Given the description of an element on the screen output the (x, y) to click on. 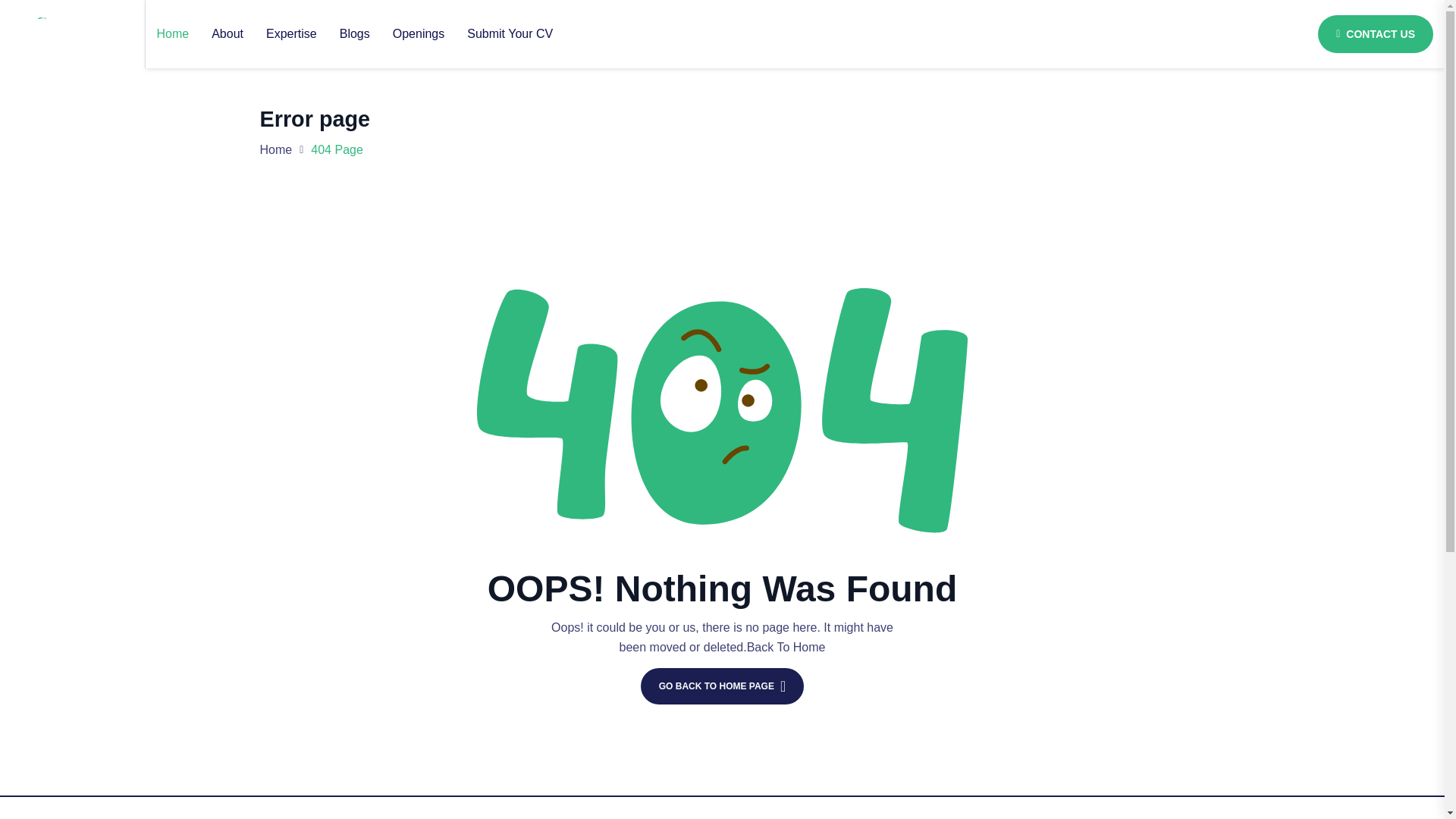
Home (275, 149)
Submit Your CV (510, 33)
GO BACK TO HOME PAGE (722, 686)
CONTACT US (1374, 34)
